Given the description of an element on the screen output the (x, y) to click on. 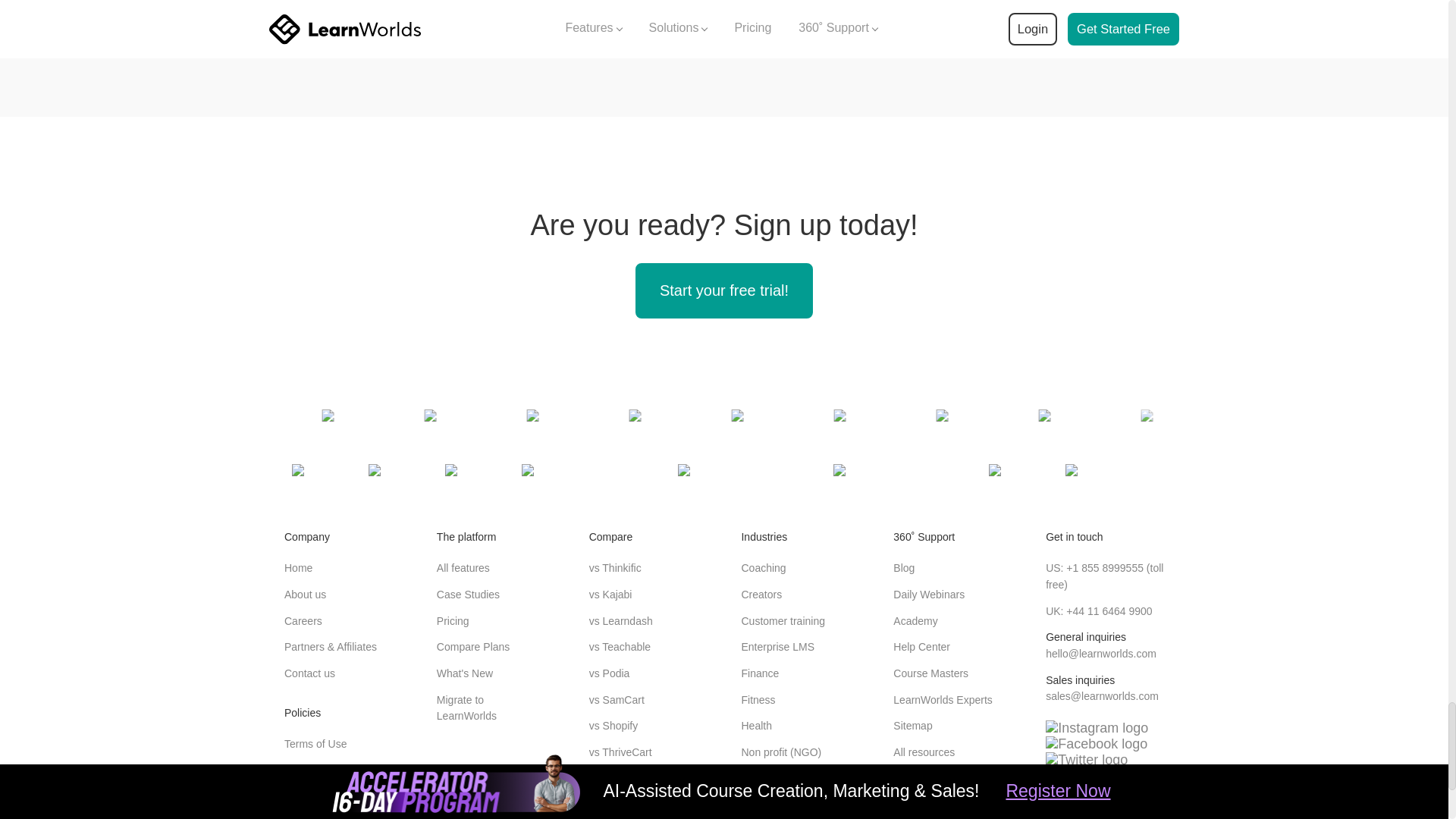
send email to LearnWorlds (1100, 653)
send email to LearnWorlds (1101, 695)
